Given the description of an element on the screen output the (x, y) to click on. 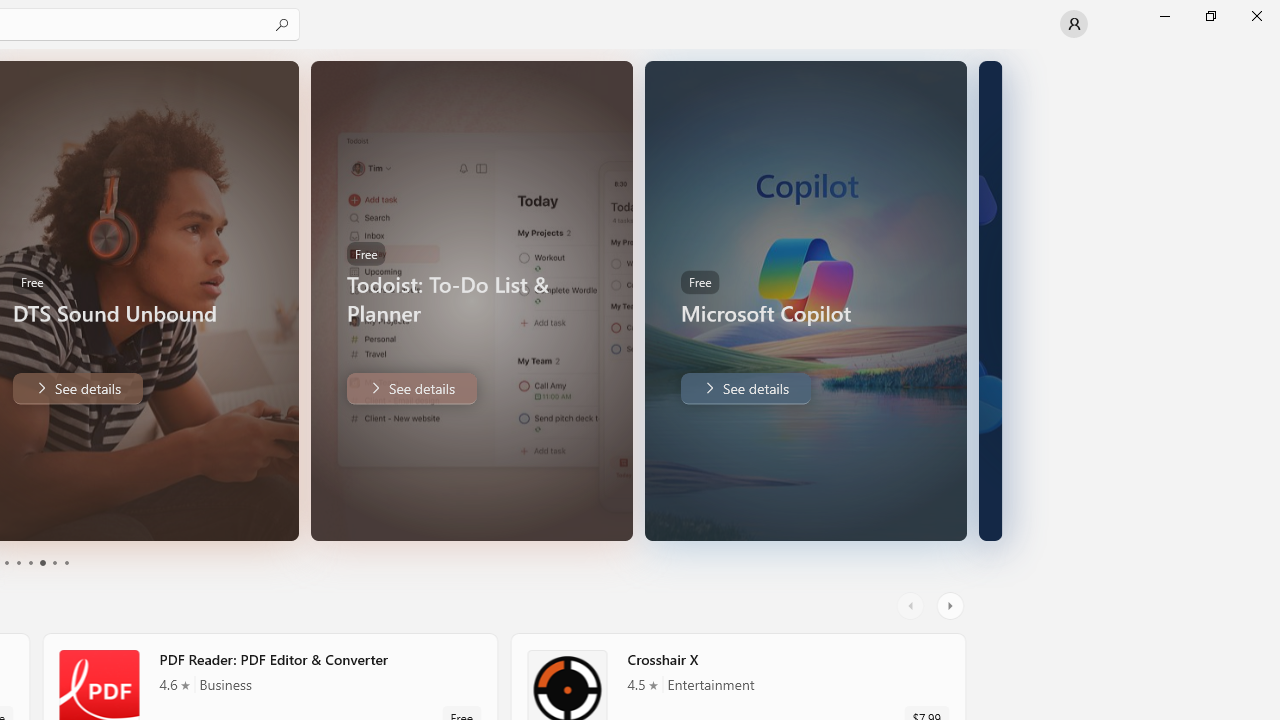
Close Microsoft Store (1256, 15)
Page 4 (41, 562)
